Given the description of an element on the screen output the (x, y) to click on. 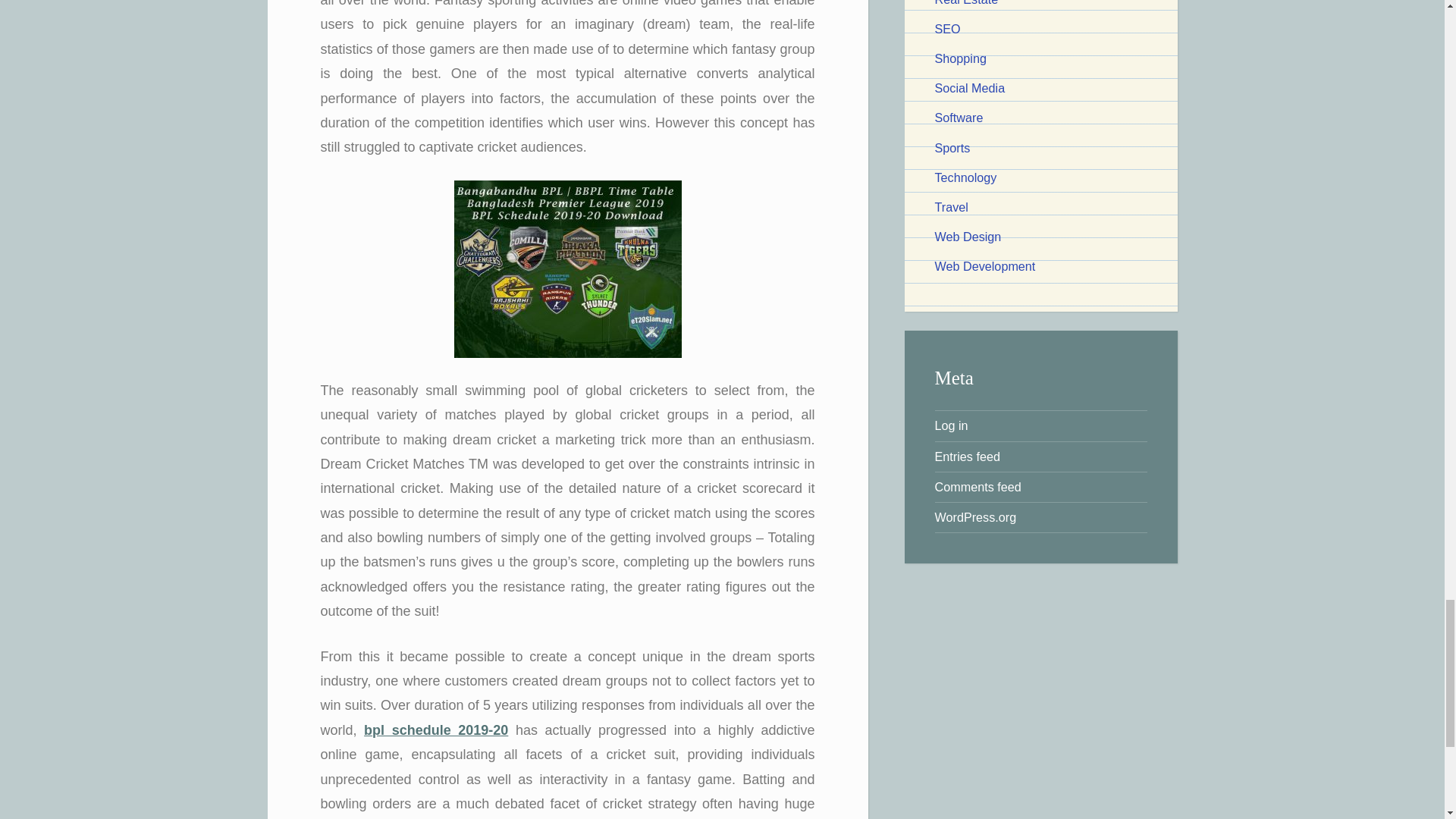
bpl schedule 2019-20 (436, 729)
